Given the description of an element on the screen output the (x, y) to click on. 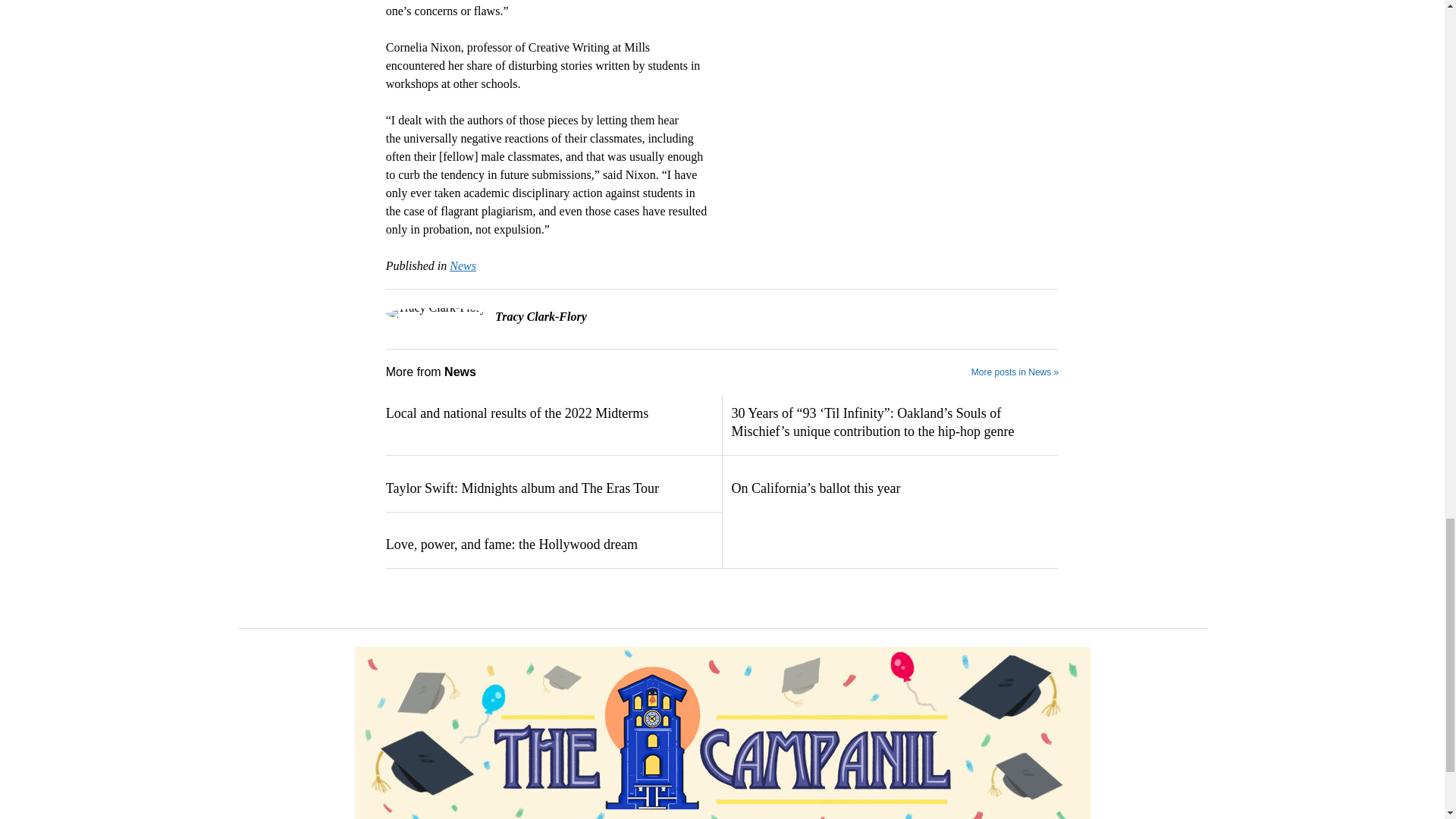
View all posts in News (462, 265)
News (462, 265)
